Given the description of an element on the screen output the (x, y) to click on. 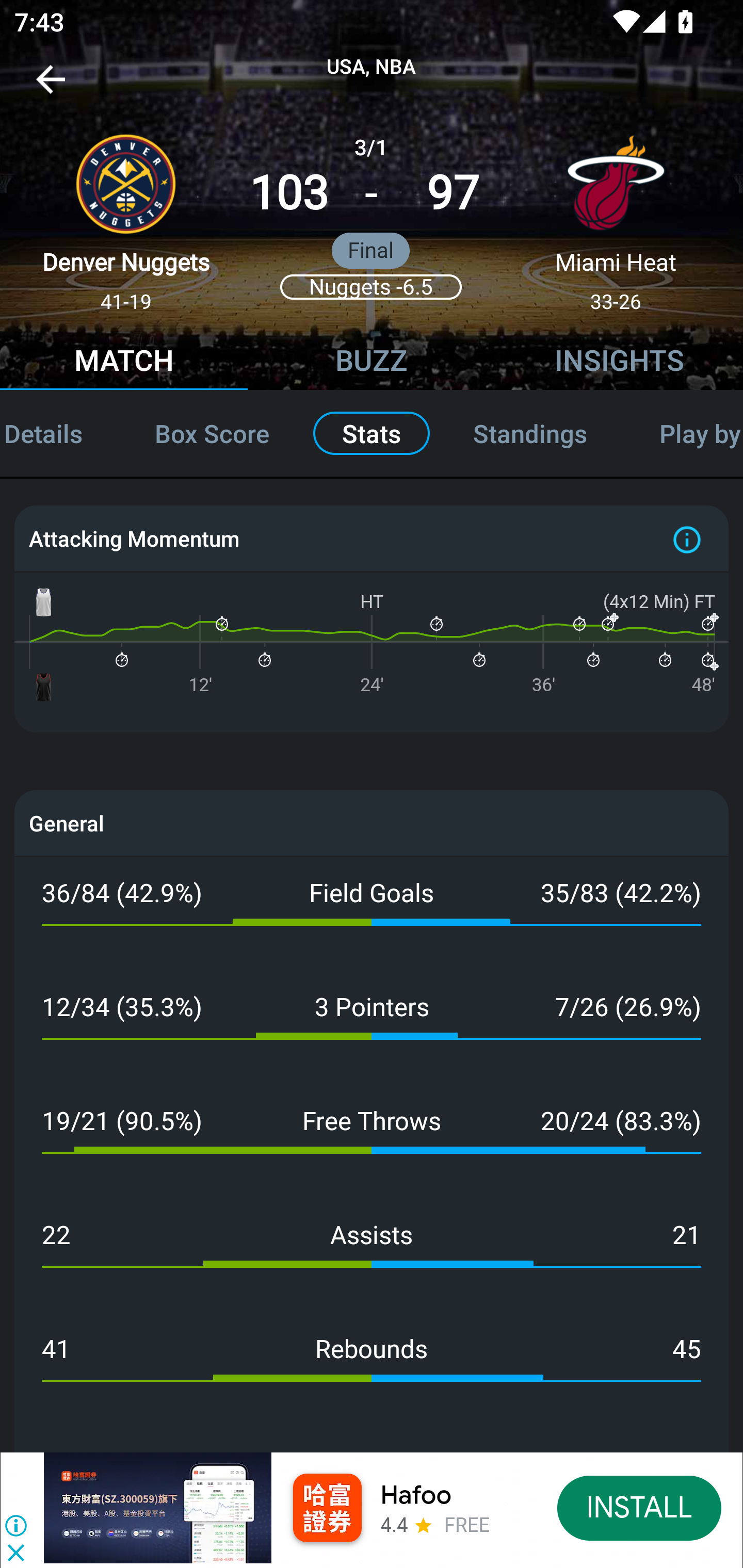
Navigate up (50, 86)
USA, NBA (371, 66)
Denver Nuggets 41-19 (126, 214)
Miami Heat 33-26 (616, 214)
103 (288, 192)
97 (453, 192)
MATCH (123, 362)
BUZZ (371, 362)
INSIGHTS (619, 362)
Details (59, 433)
Box Score (212, 433)
Standings (529, 433)
Play by Play (683, 433)
36/84 (42.9%) Field Goals 35/83 (42.2%) 42.0 42.0 (371, 913)
12/34 (35.3%) 3 Pointers 7/26 (26.9%) 35.0 26.0 (371, 1027)
19/21 (90.5%) Free Throws 20/24 (83.3%) 90.0 83.0 (371, 1142)
22 Assists 21 51.0 49.0 (371, 1256)
41 Rebounds 45 48.0 52.0 (371, 1369)
9 Off. Rebounds 9 (371, 1438)
INSTALL (639, 1507)
Hafoo (416, 1494)
